Given the description of an element on the screen output the (x, y) to click on. 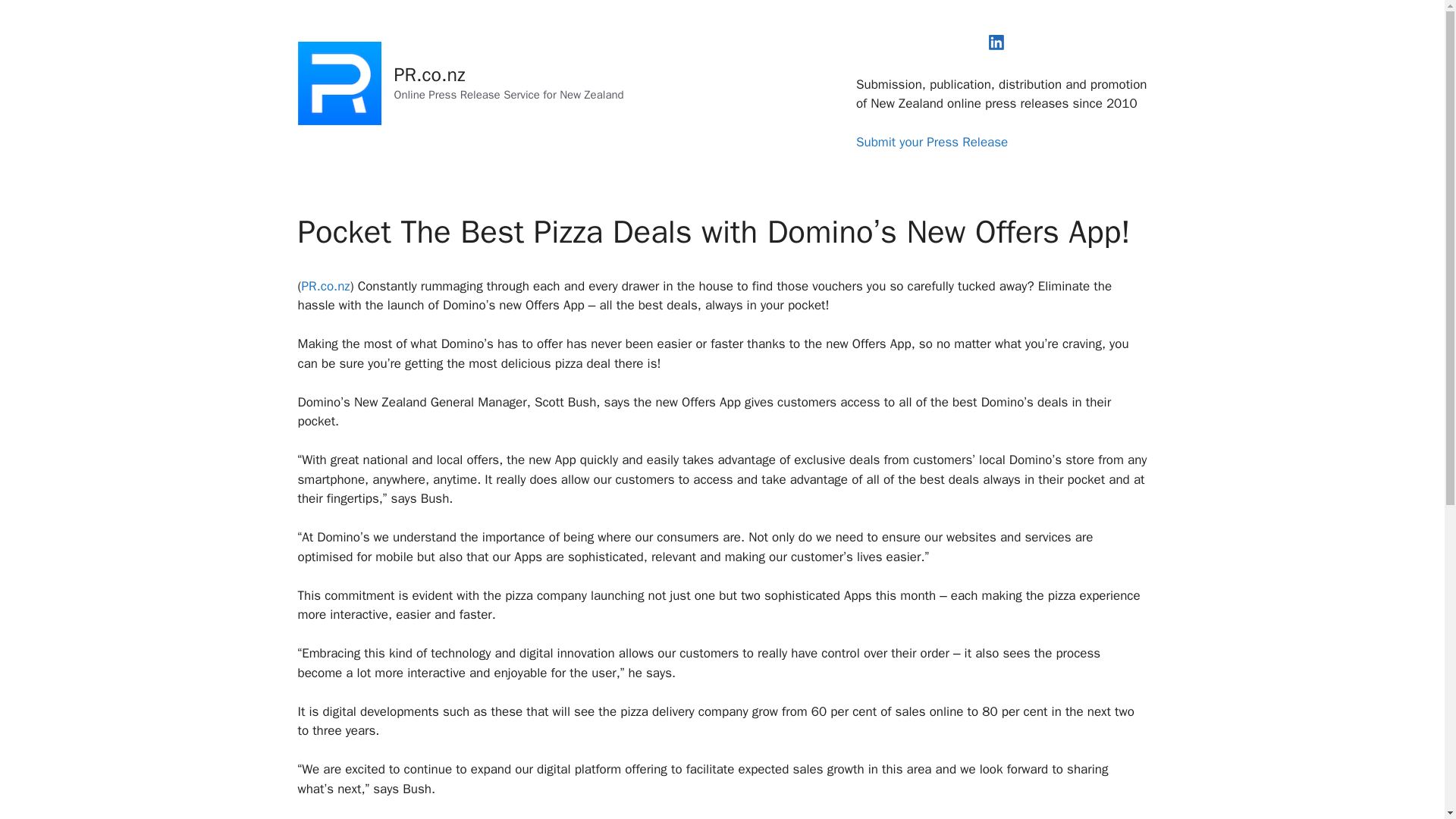
LinkedIn (996, 42)
Submit your Press Release (931, 141)
PR.co.nz (429, 74)
PR.co.nz (325, 286)
